Given the description of an element on the screen output the (x, y) to click on. 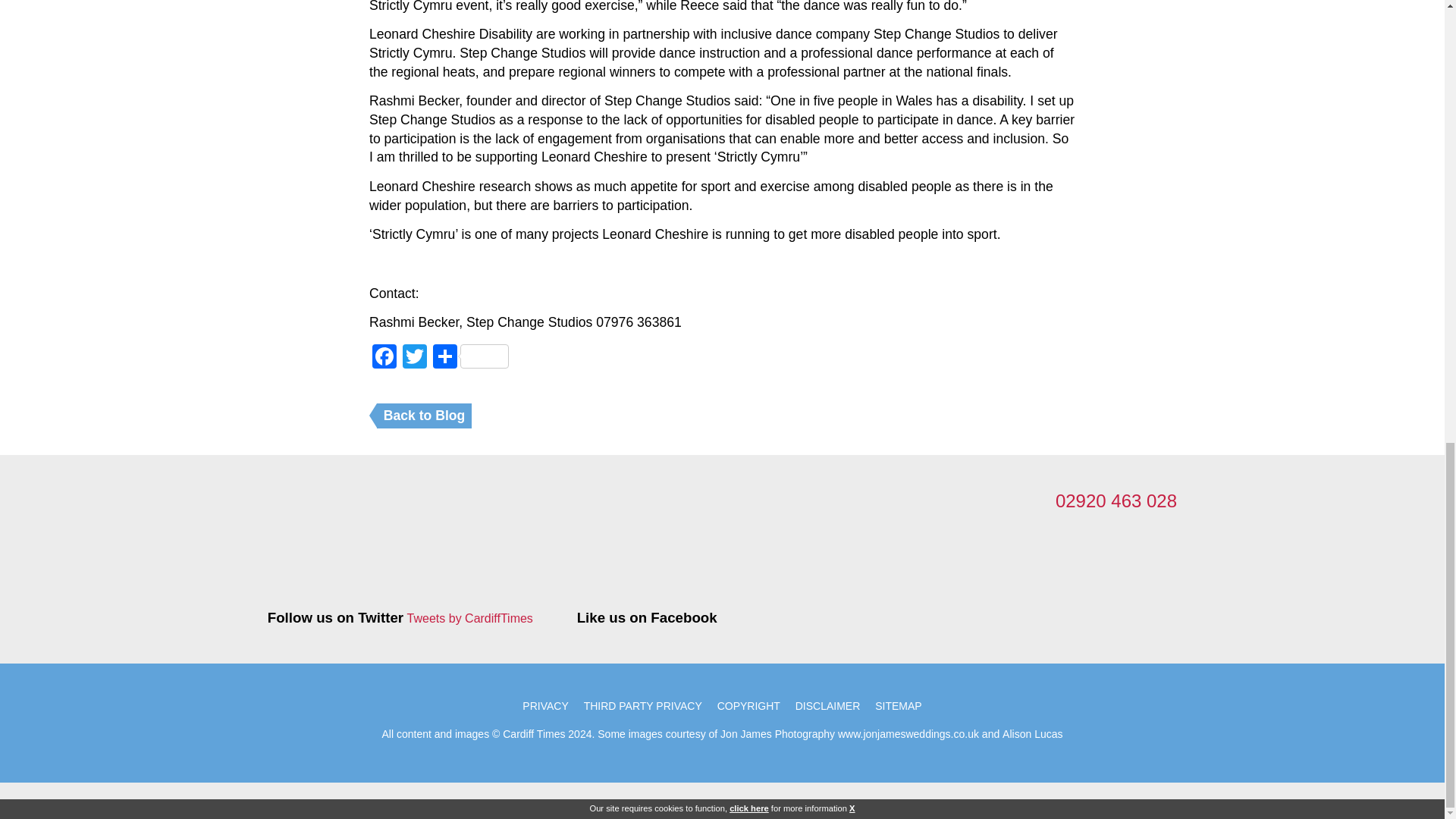
SITEMAP (898, 705)
Back to Blog (424, 415)
Tweets by CardiffTimes (469, 618)
Twitter (413, 357)
COPYRIGHT (748, 705)
PRIVACY (544, 705)
Facebook (383, 357)
Twitter (413, 357)
THIRD PARTY PRIVACY (642, 705)
02920 463 028 (1115, 500)
Share (470, 357)
Facebook (383, 357)
DISCLAIMER (827, 705)
